Given the description of an element on the screen output the (x, y) to click on. 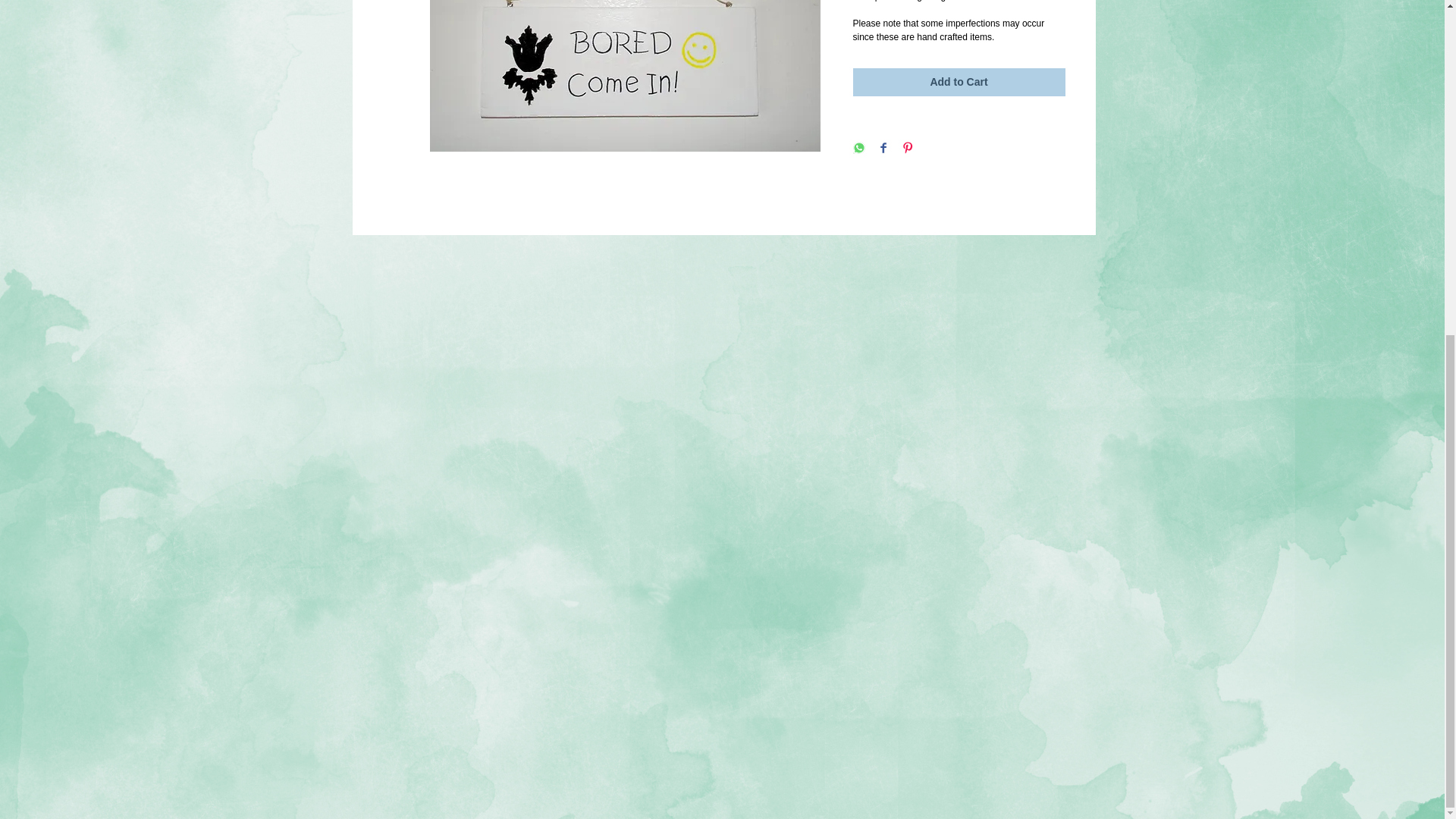
Add to Cart (957, 81)
